Given the description of an element on the screen output the (x, y) to click on. 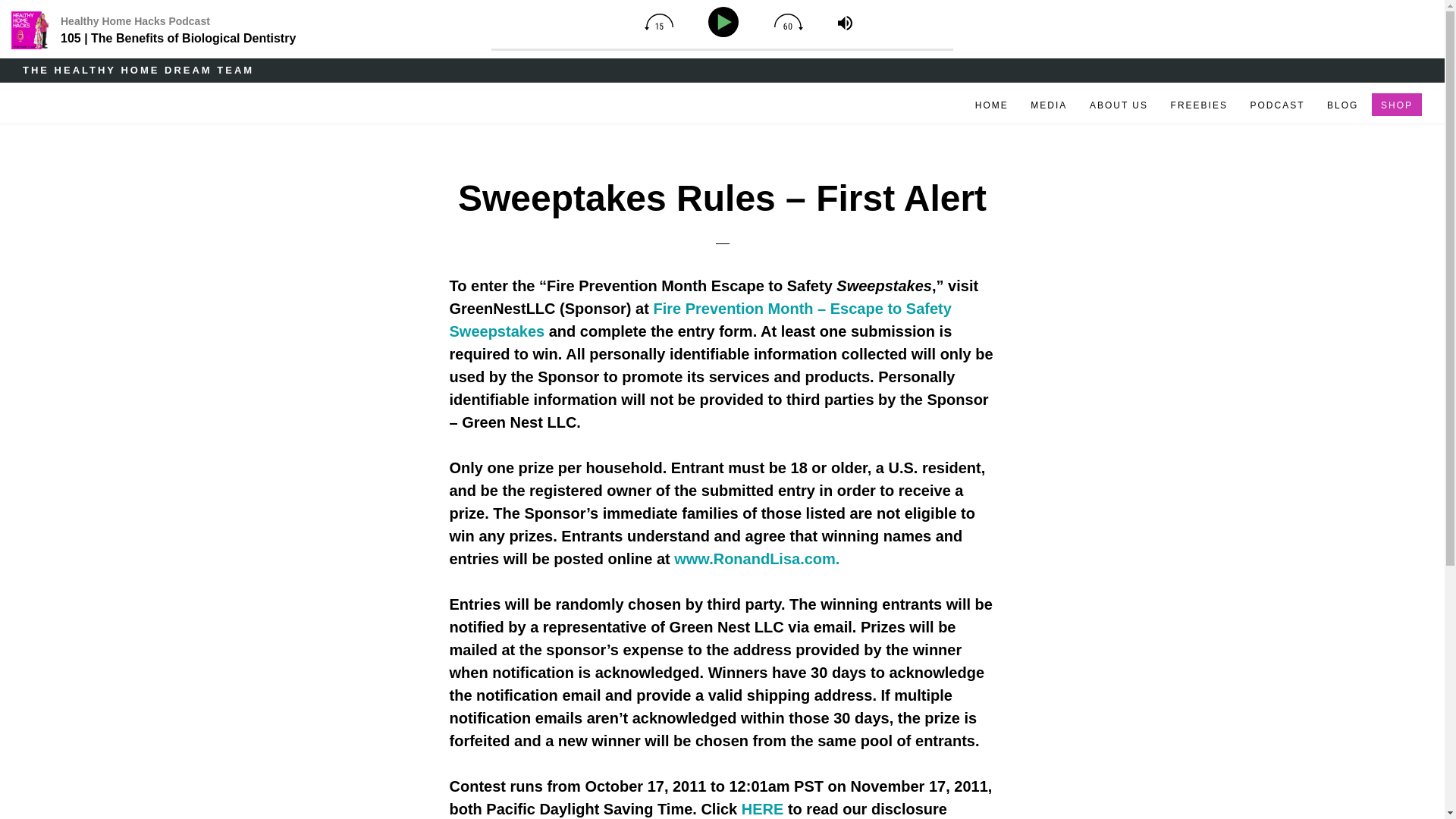
ABOUT US (1118, 97)
Forward 60 seconds (788, 21)
HOME (991, 97)
MEDIA (1048, 97)
PODCAST (1276, 97)
BLOG (1342, 97)
RON AND LISA BERES HEALTHY HOME AUTHORITIES (191, 100)
Back 15 seconds (658, 21)
FREEBIES (1198, 97)
